Given the description of an element on the screen output the (x, y) to click on. 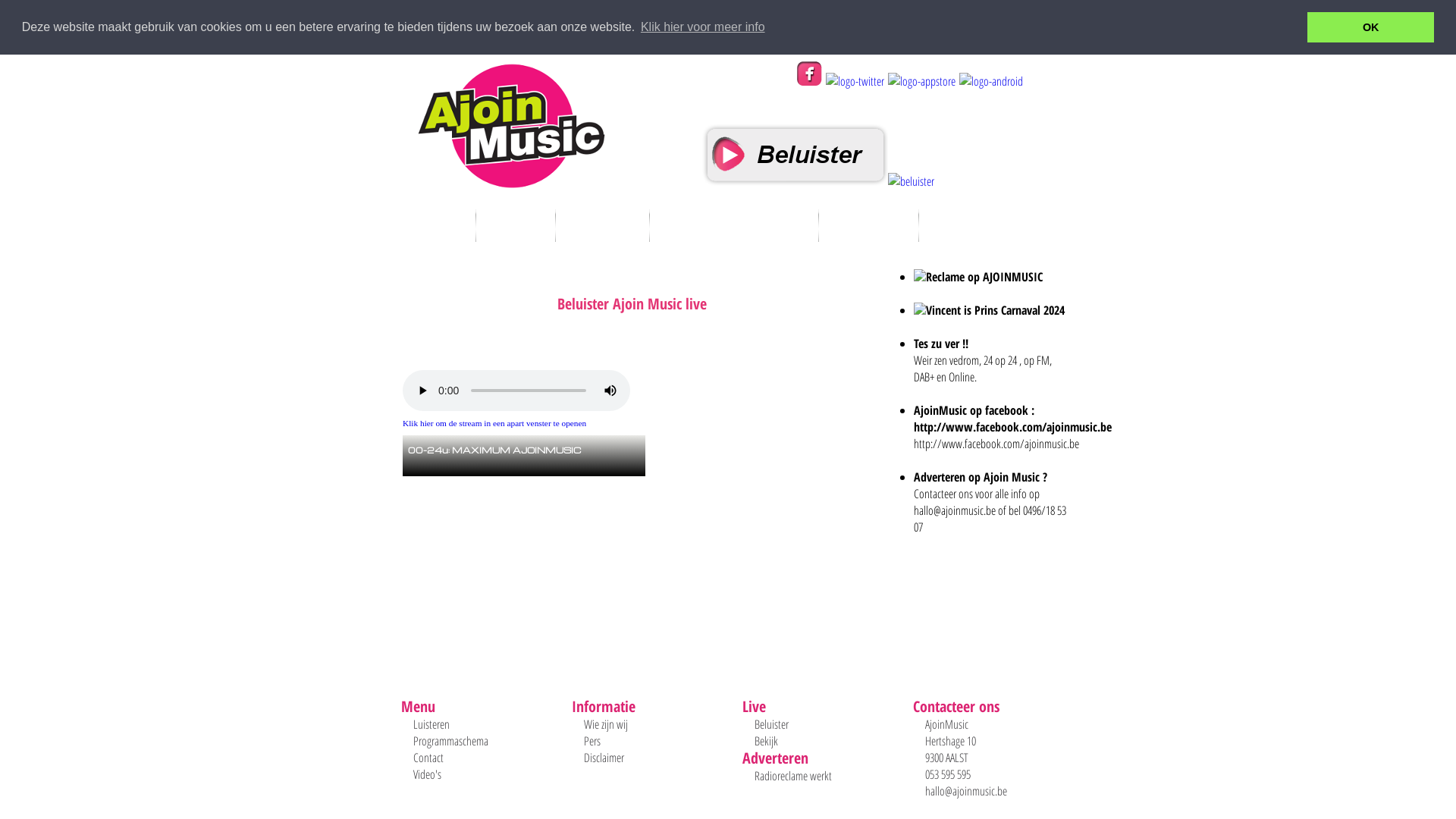
Home Element type: text (435, 225)
Playlist Element type: text (602, 225)
Video Element type: text (515, 225)
Bekijk Element type: text (766, 740)
Luisteren Element type: text (431, 723)
Video's Element type: text (427, 773)
Klik hier om de stream in een apart venster te openen Element type: text (494, 422)
Facebook Group Element type: hover (807, 80)
Contact Element type: text (428, 757)
Wie zijn wij Element type: text (605, 723)
Dauverende 13 Element type: text (734, 225)
Programmaschema Element type: text (450, 740)
Top 100 Element type: text (868, 225)
Radioreclame werkt Element type: text (792, 775)
Programmatie Element type: text (1000, 225)
Luister naar Ajoin-Music op Android via Ajoin Music app Element type: hover (988, 80)
Beluister Element type: text (771, 723)
Disclaimer Element type: text (603, 757)
Klik hier voor meer info Element type: text (702, 26)
OK Element type: text (1370, 27)
Pers Element type: text (591, 740)
